Given the description of an element on the screen output the (x, y) to click on. 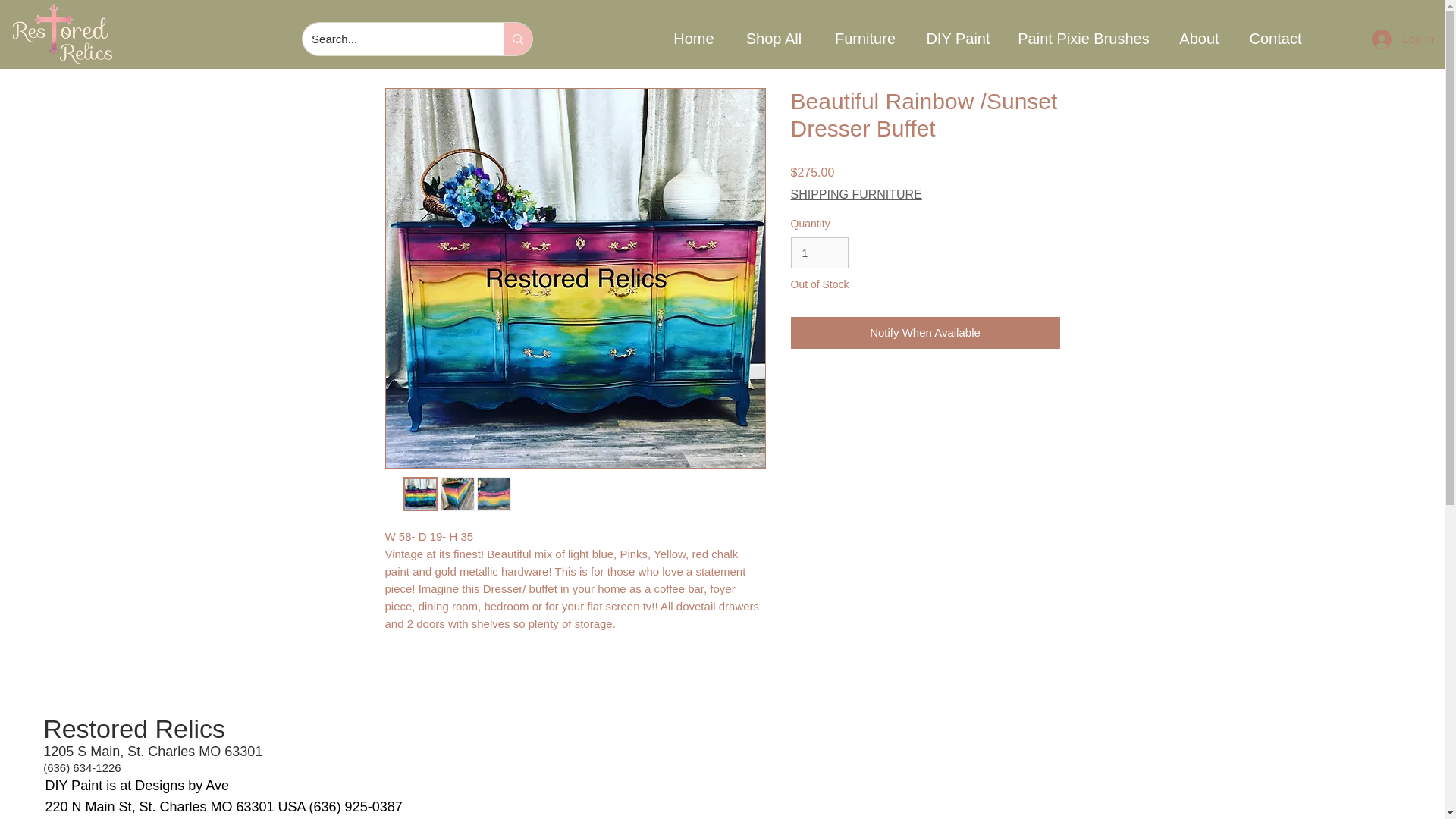
DIY Paint (957, 38)
1 (818, 252)
Home (693, 38)
Notify When Available (924, 332)
Shop All (772, 38)
About (1198, 38)
Furniture (864, 38)
Contact (1275, 38)
Paint Pixie Brushes (1083, 38)
SHIPPING FURNITURE (855, 194)
